Given the description of an element on the screen output the (x, y) to click on. 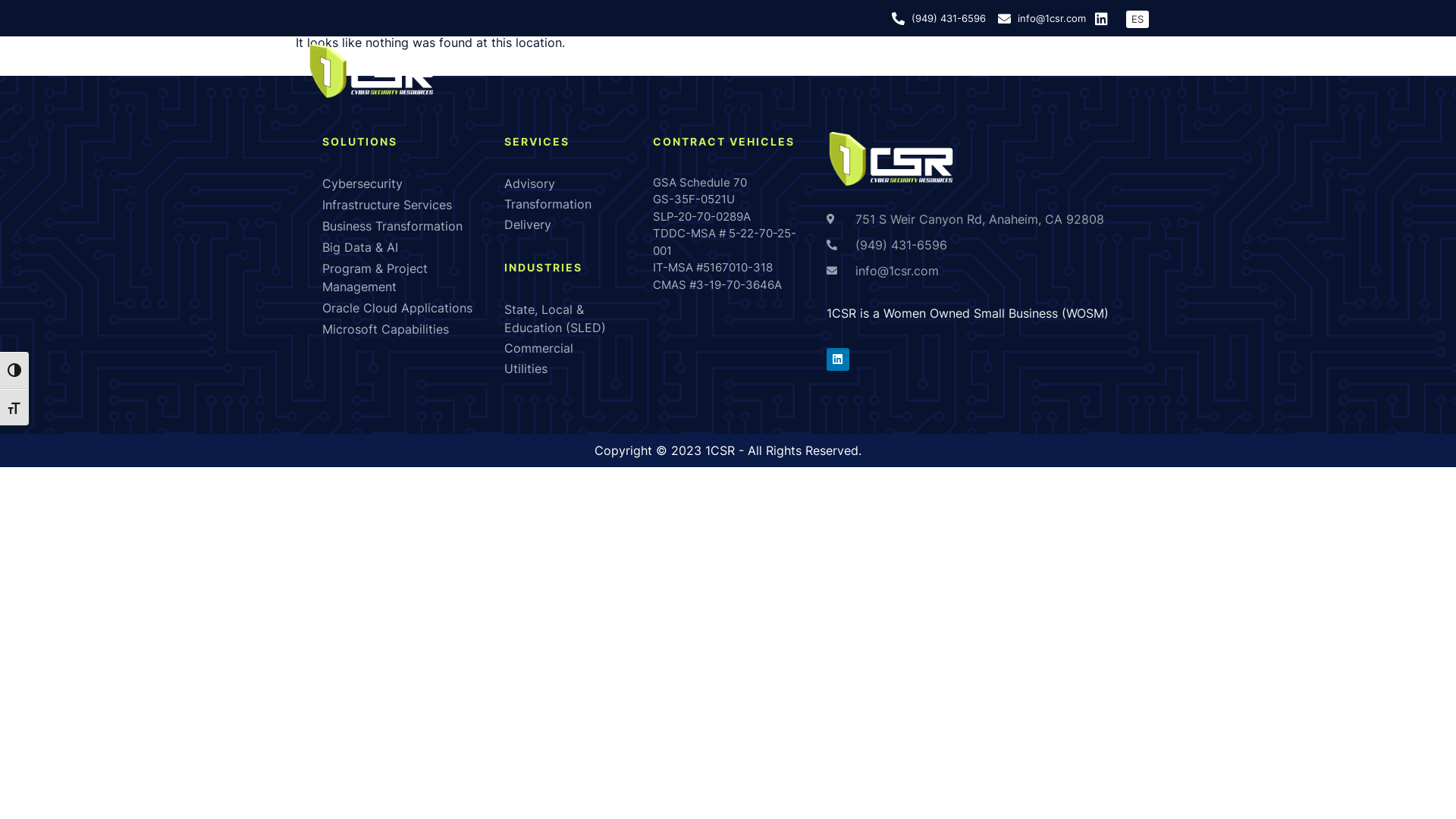
Articles Element type: text (1048, 70)
About Element type: text (665, 70)
Home Element type: text (591, 70)
Business Transformation Element type: text (405, 225)
(949) 431-6596 Element type: text (979, 244)
(949) 431-6596 Element type: text (938, 18)
Contact Element type: text (1124, 70)
SOLUTIONS Element type: text (359, 140)
Oracle Cloud Applications Element type: text (405, 307)
Microsoft Capabilities Element type: text (405, 329)
SERVICES Element type: text (536, 140)
Infrastructure Services Element type: text (405, 204)
State, Local & Education (SLED) Element type: text (570, 318)
Advisory Element type: text (570, 183)
Cybersecurity Element type: text (405, 183)
INDUSTRIES Element type: text (543, 266)
Utilities Element type: text (570, 368)
Industries Element type: text (956, 70)
Program & Project Management Element type: text (405, 277)
Big Data & AI Element type: text (405, 247)
Solutions Element type: text (756, 70)
Services Element type: text (855, 70)
Commercial Element type: text (570, 347)
Toggle High Contrast Element type: text (14, 369)
CONTRACT VEHICLES Element type: text (723, 140)
Toggle Font Size Element type: text (14, 407)
Delivery Element type: text (570, 224)
ES Element type: text (1137, 19)
Transformation Element type: text (570, 203)
